Given the description of an element on the screen output the (x, y) to click on. 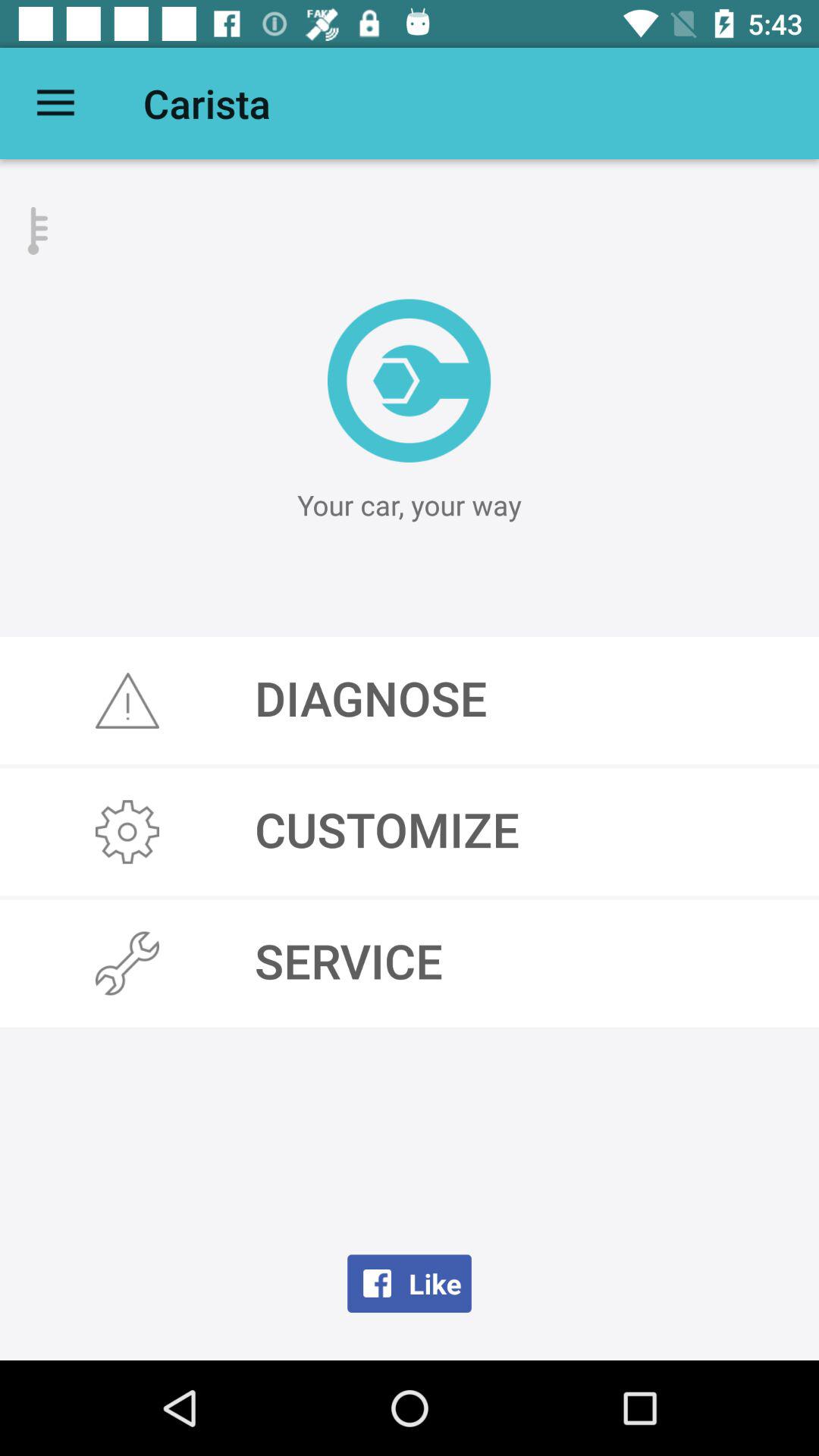
select customize icon (409, 831)
